Given the description of an element on the screen output the (x, y) to click on. 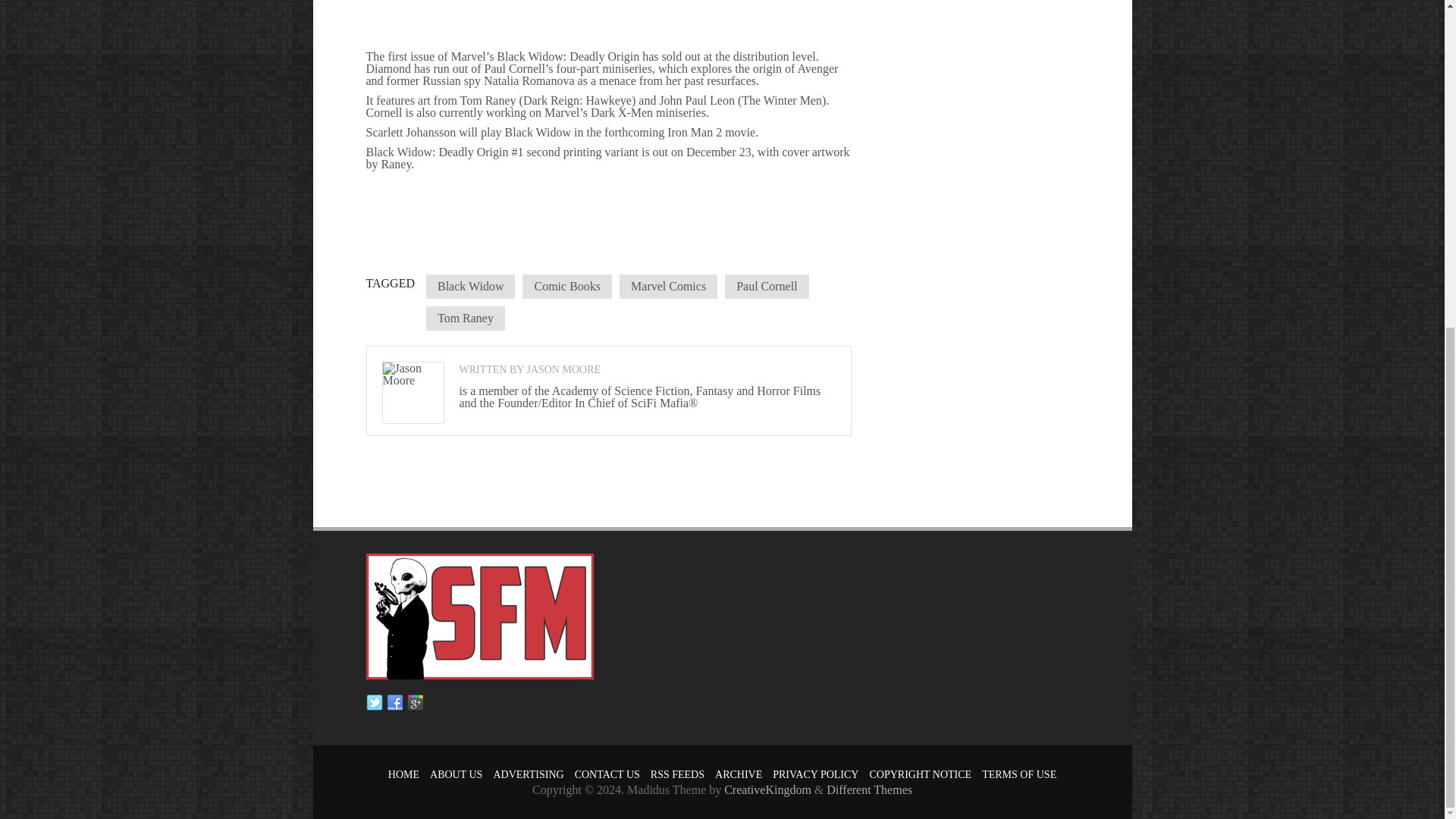
Tom Raney (465, 318)
PRIVACY POLICY (816, 774)
ABOUT US (455, 774)
ARCHIVE (737, 774)
Facebook (395, 702)
Google plus (414, 702)
Twitter (373, 702)
TERMS OF USE (1019, 774)
Marvel Comics (668, 286)
Advertisement (608, 200)
Black Widow (470, 286)
Advertisement (608, 22)
HOME (403, 774)
CreativeKingdom (766, 789)
Comic Books (566, 286)
